Given the description of an element on the screen output the (x, y) to click on. 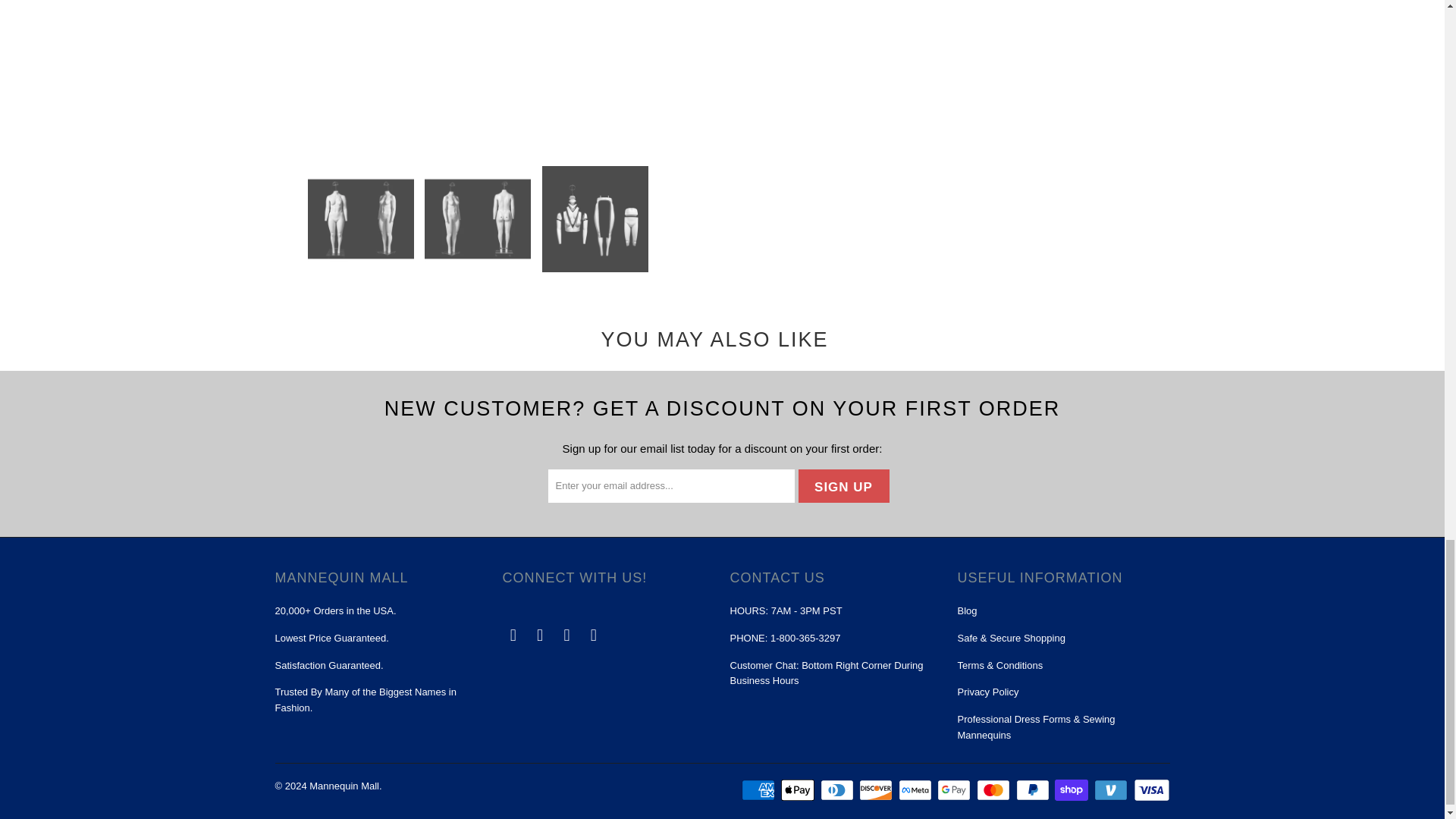
Diners Club (839, 789)
Meta Pay (916, 789)
American Express (759, 789)
Google Pay (955, 789)
Mannequin Mall on Instagram (567, 635)
Apple Pay (798, 789)
Venmo (1112, 789)
Mannequin Mall on LinkedIn (593, 635)
Mastercard (994, 789)
Sign Up (842, 485)
Visa (1150, 789)
Mannequin Mall on Facebook (513, 635)
Shop Pay (1072, 789)
PayPal (1034, 789)
Mannequin Mall on Pinterest (540, 635)
